Given the description of an element on the screen output the (x, y) to click on. 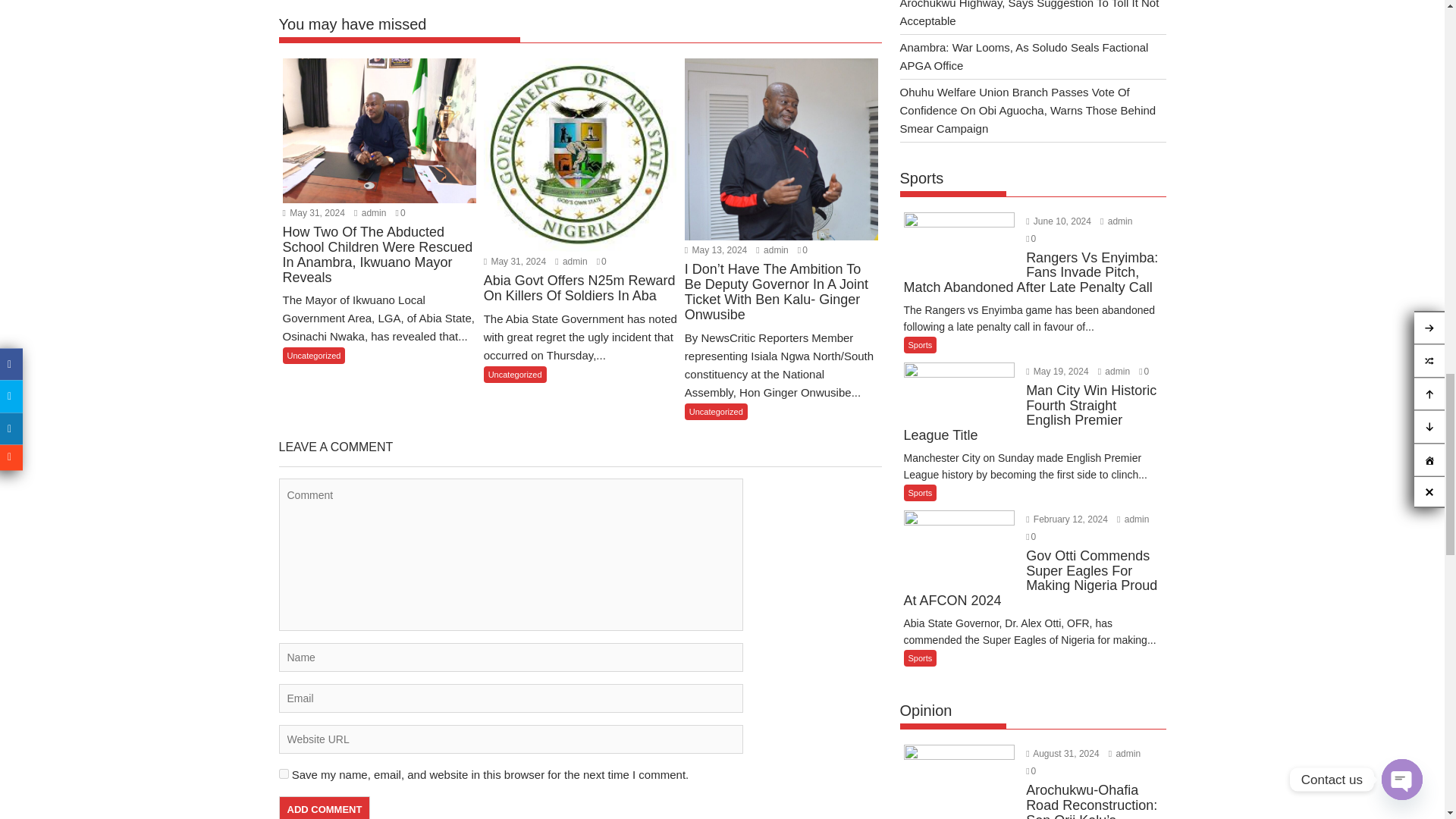
Add Comment (325, 807)
admin (369, 213)
admin (771, 249)
admin (570, 261)
yes (283, 773)
